Given the description of an element on the screen output the (x, y) to click on. 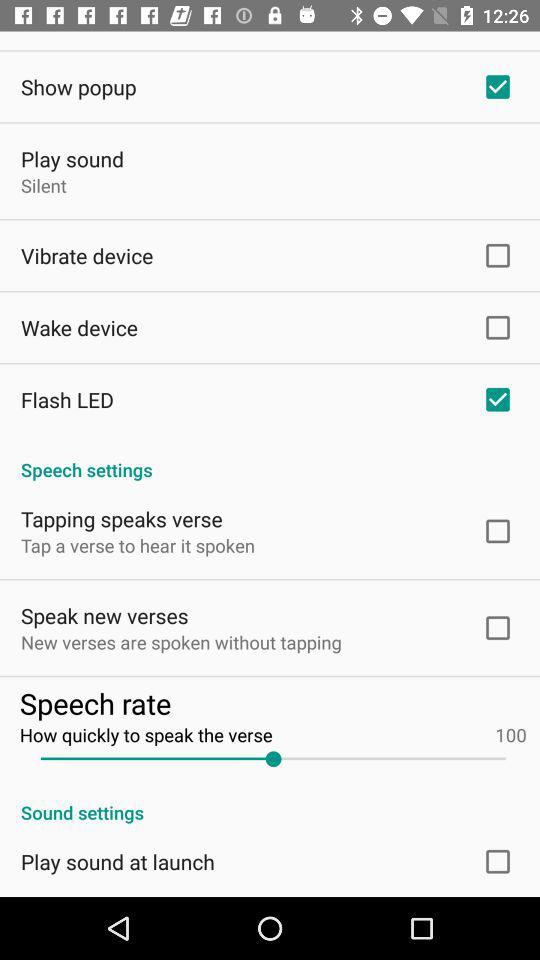
scroll until wake device icon (79, 327)
